Given the description of an element on the screen output the (x, y) to click on. 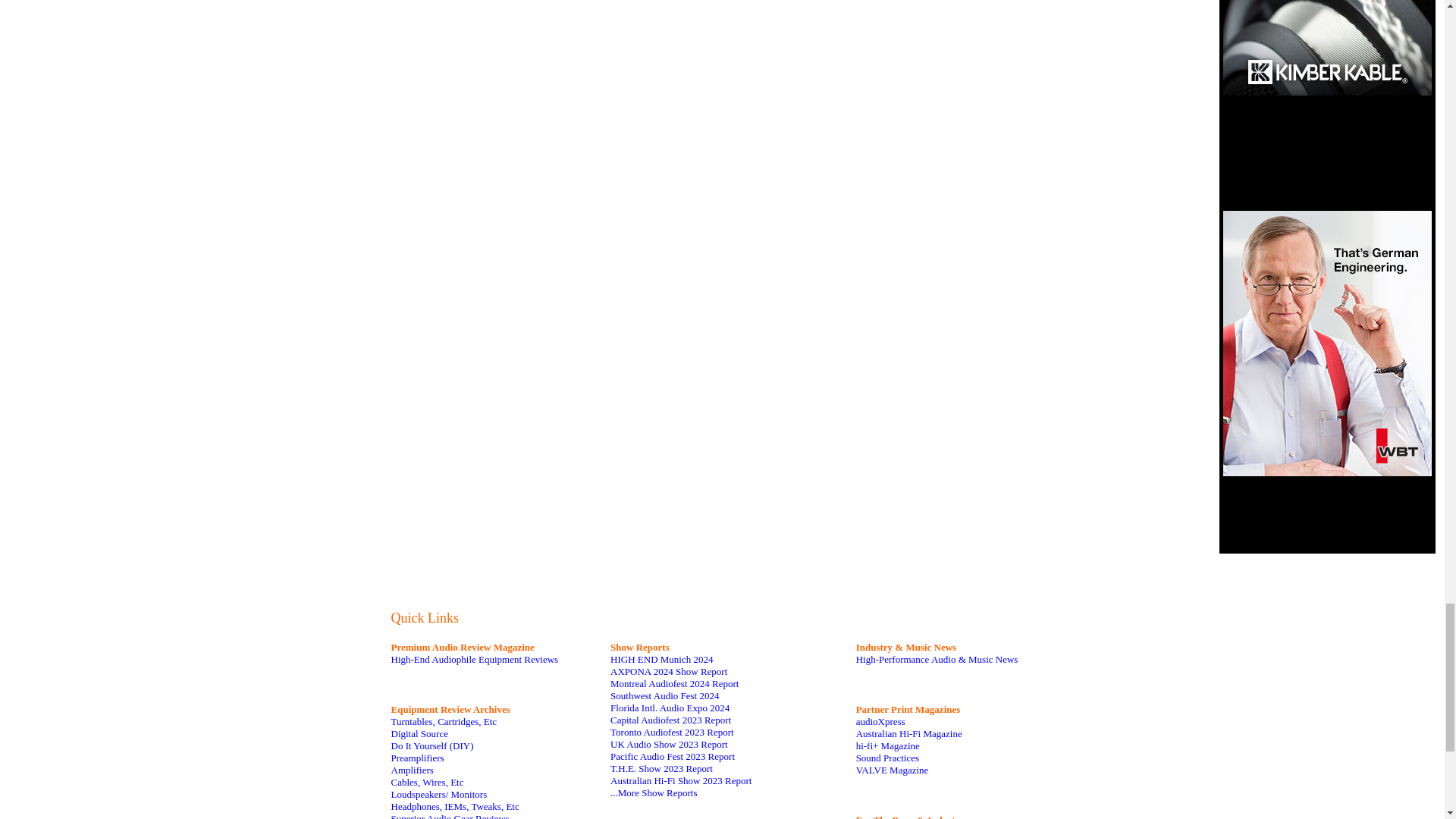
Turntables, Cartridges, Etc (444, 721)
Digital Source (419, 733)
High-End Audiophile Equipment Reviews (475, 659)
Preamplifiers (417, 757)
Headphones, IEMs, Tweaks, Etc (455, 806)
Amplifiers (412, 769)
Cables, Wires, Etc (427, 781)
